Given the description of an element on the screen output the (x, y) to click on. 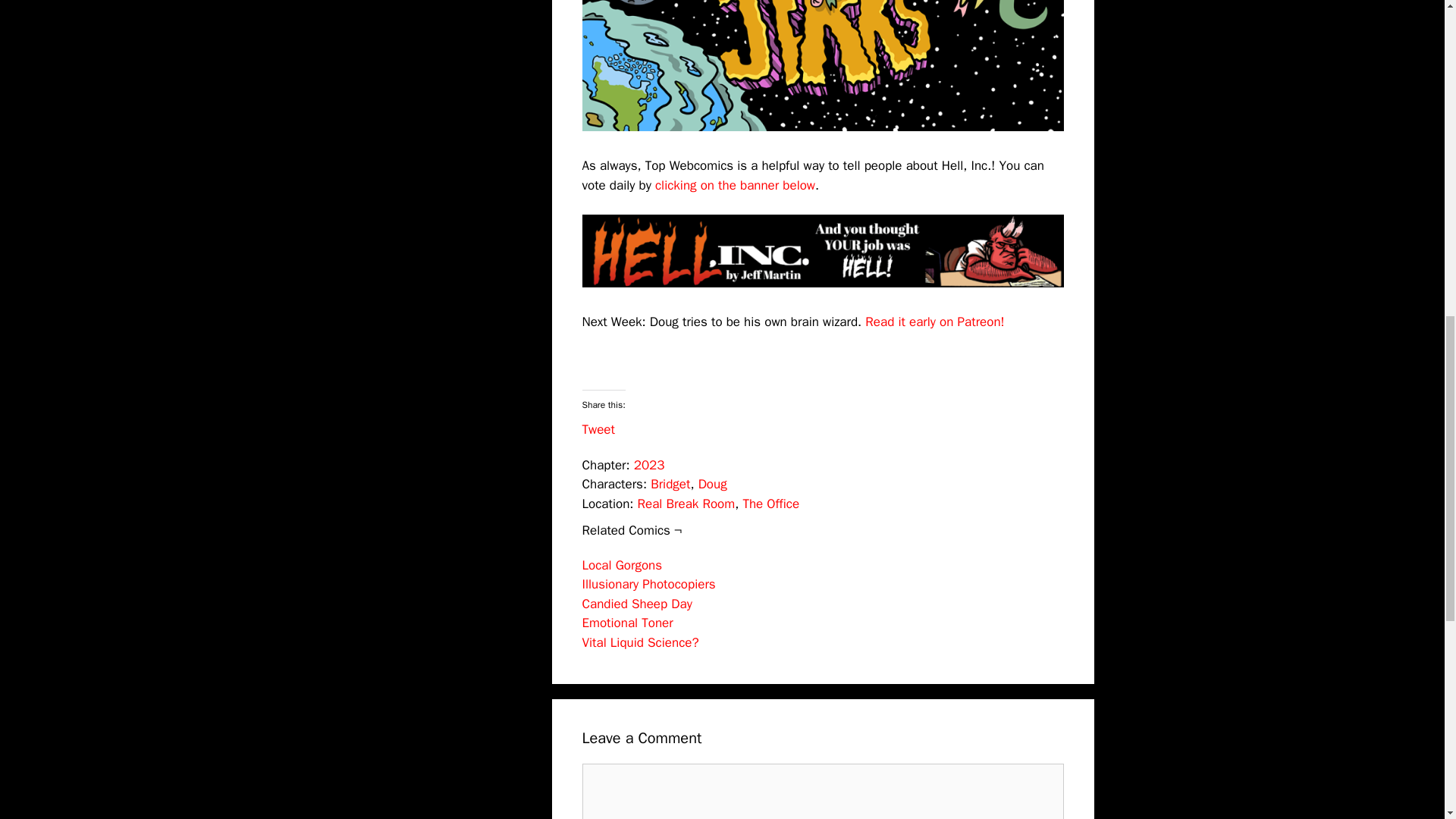
Real Break Room (686, 503)
Local Gorgons (622, 565)
Doug (712, 483)
Read it early on Patreon! (934, 321)
Illusionary Photocopiers (649, 584)
Vital Liquid Science? (640, 642)
Illusionary Photocopiers (649, 584)
Candied Sheep Day (637, 603)
Tweet (598, 429)
Emotional Toner (627, 622)
clicking on the banner below (735, 185)
Bridget (670, 483)
Candied Sheep Day (637, 603)
Vital Liquid Science? (640, 642)
Emotional Toner (627, 622)
